Given the description of an element on the screen output the (x, y) to click on. 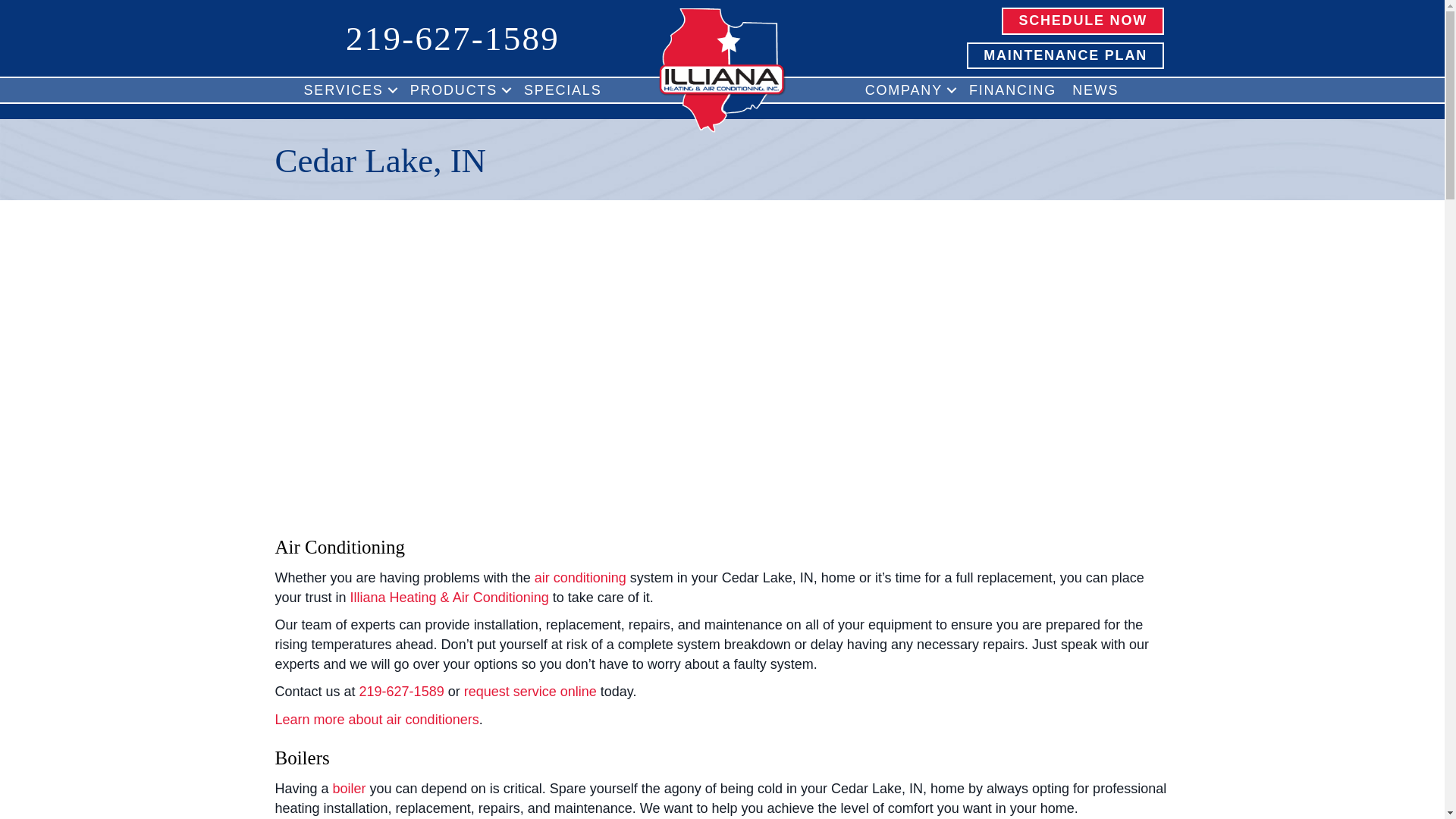
MAINTENANCE PLAN (1064, 55)
FINANCING (1012, 89)
SERVICES (349, 89)
logo (722, 70)
219-627-1589 (452, 38)
SPECIALS (562, 89)
PRODUCTS (459, 89)
SCHEDULE NOW (1082, 21)
COMPANY (908, 89)
NEWS (1094, 89)
